Given the description of an element on the screen output the (x, y) to click on. 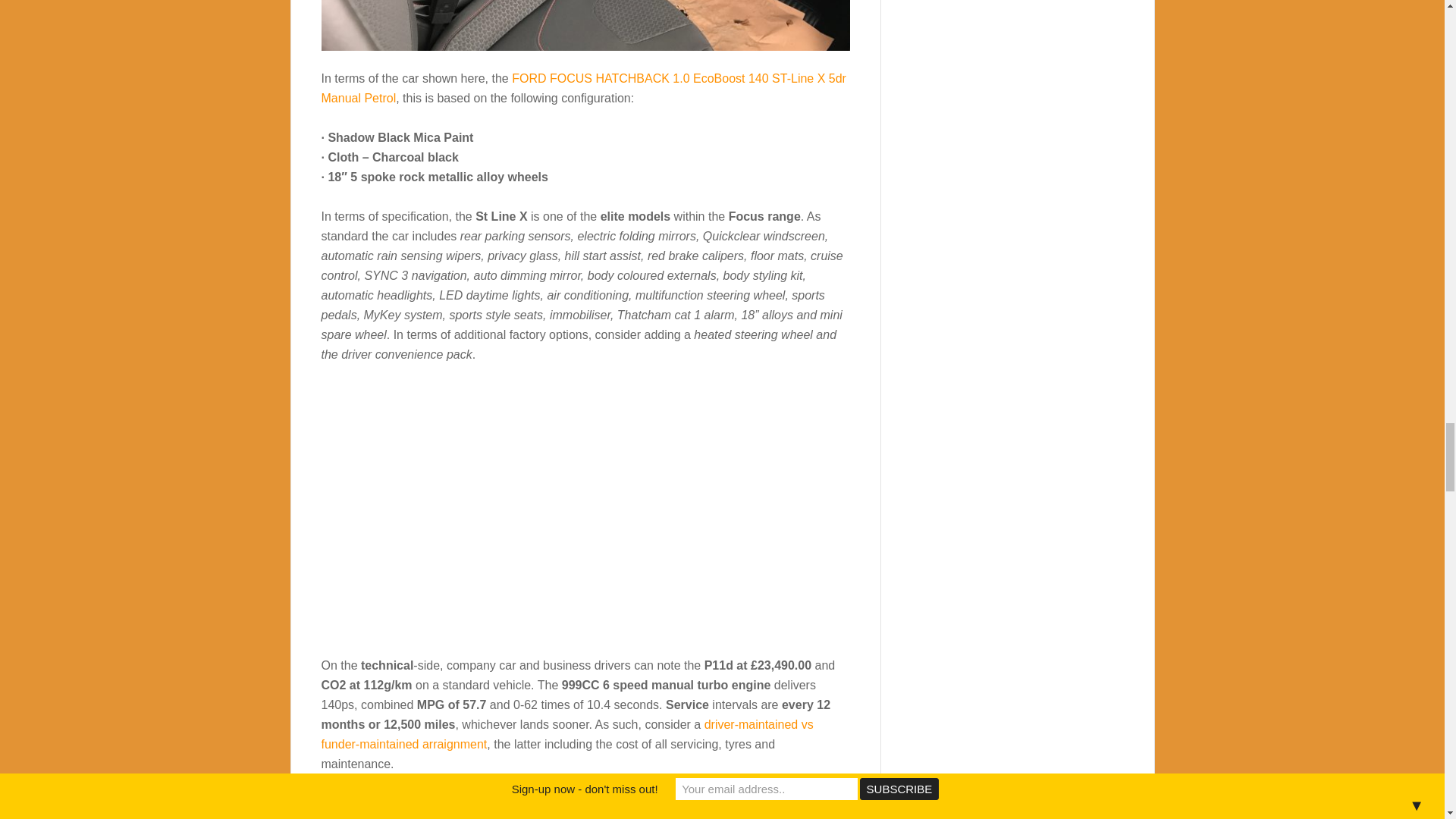
Ford Focus ST Line (505, 802)
driver-maintained vs funder-maintained arraignment (567, 734)
Seat Leon (452, 817)
Vauxhall Astra (378, 817)
Peugeot 308 (584, 817)
Honda Civic (718, 817)
Nissan Pulsar (806, 817)
VW Golf (509, 817)
